Given the description of an element on the screen output the (x, y) to click on. 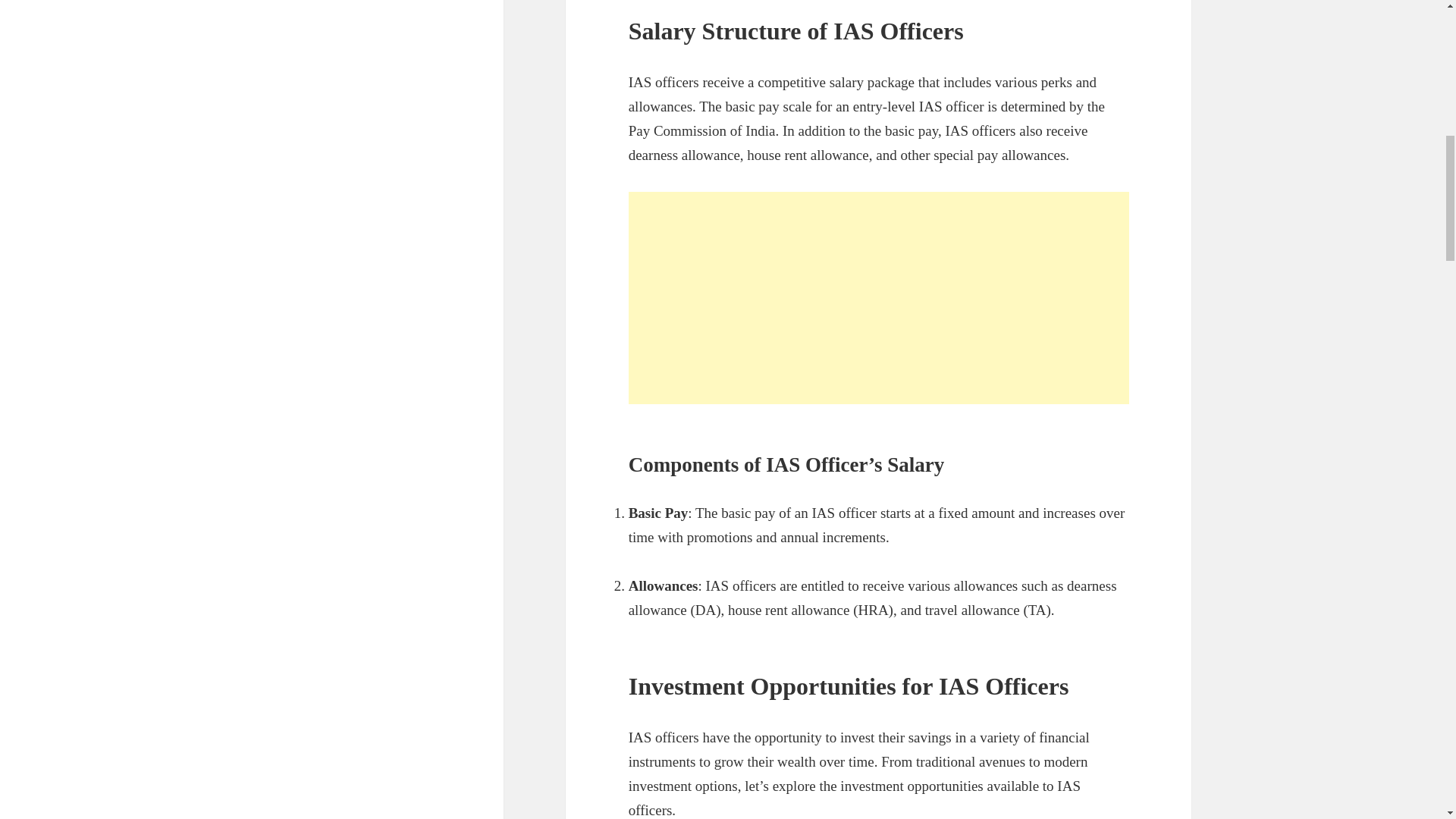
Advertisement (878, 297)
